Given the description of an element on the screen output the (x, y) to click on. 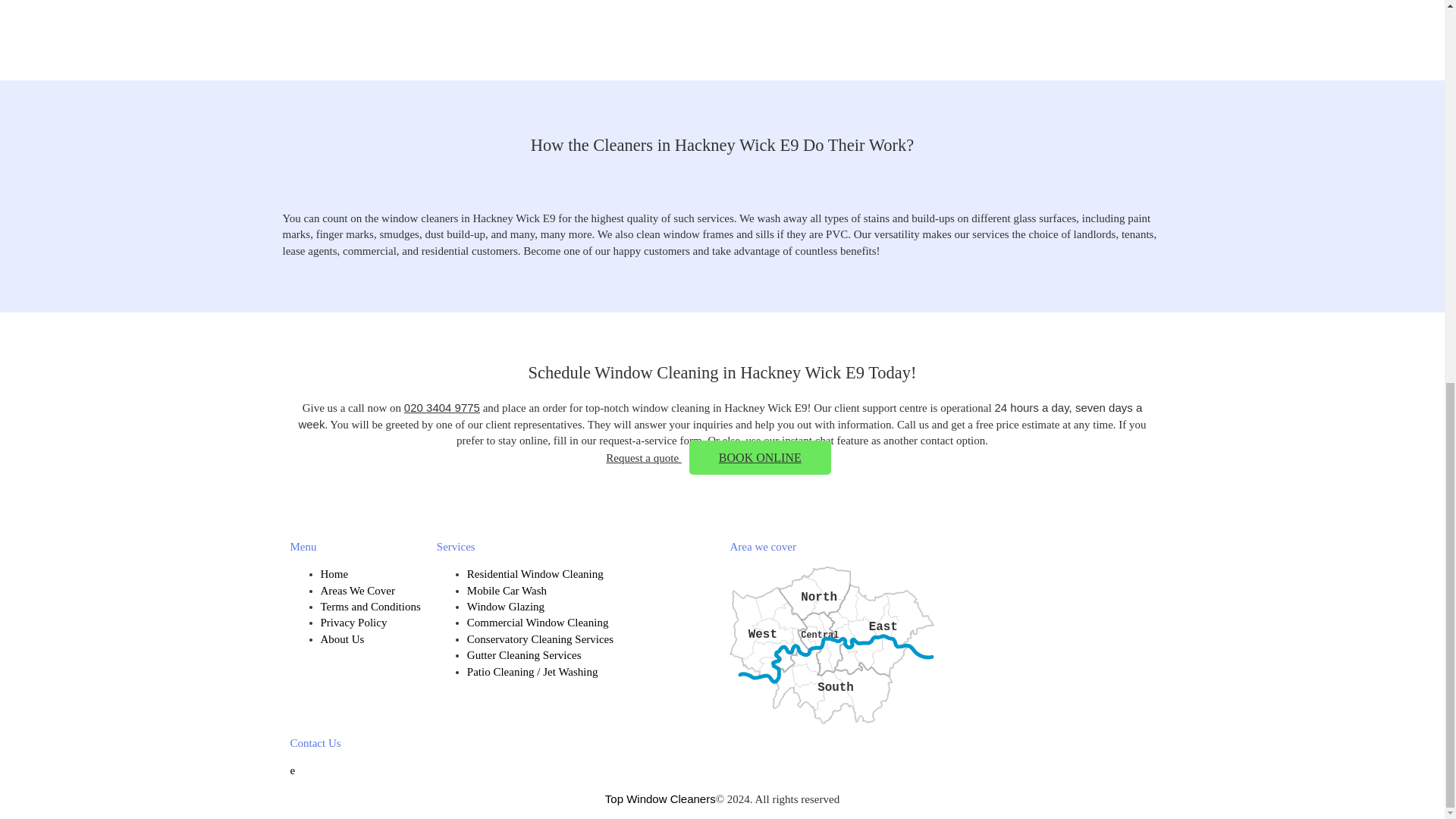
Book Top Window Cleaners Service (643, 458)
Book Top Window Cleaners Service (759, 457)
